Given the description of an element on the screen output the (x, y) to click on. 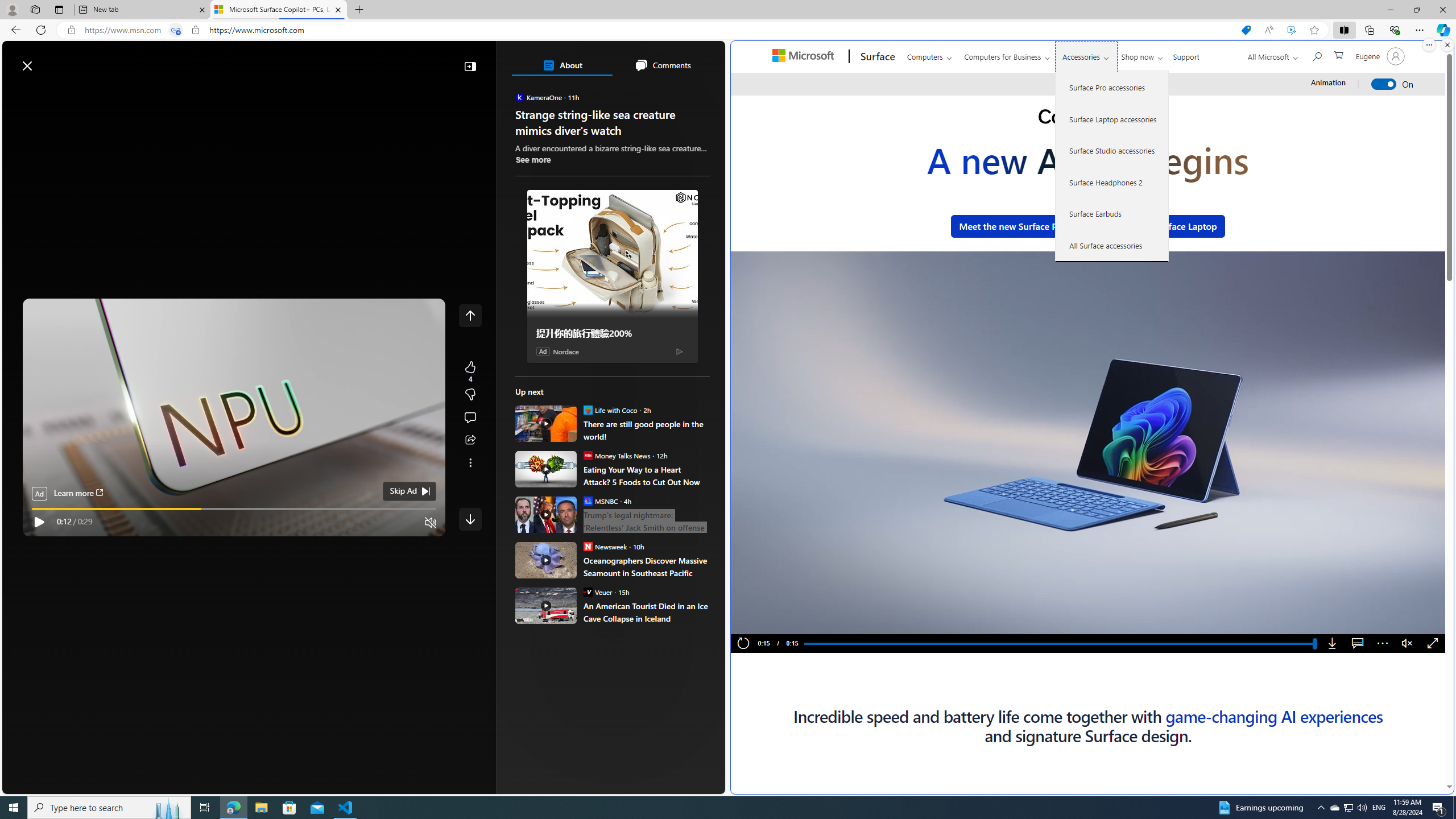
Meet the new Surface Pro (1012, 225)
Eating Your Way to a Heart Attack? 5 Foods to Cut Out Now (545, 468)
Comments (662, 64)
Skip to footer (46, 59)
Copilot+ PC. (1088, 117)
0 items in shopping cart (1338, 53)
More options. (1428, 45)
Account manager for Eugene (1378, 55)
Surface Earbuds (1112, 214)
Open settings (699, 60)
Shopping in Microsoft Edge (1245, 29)
